Given the description of an element on the screen output the (x, y) to click on. 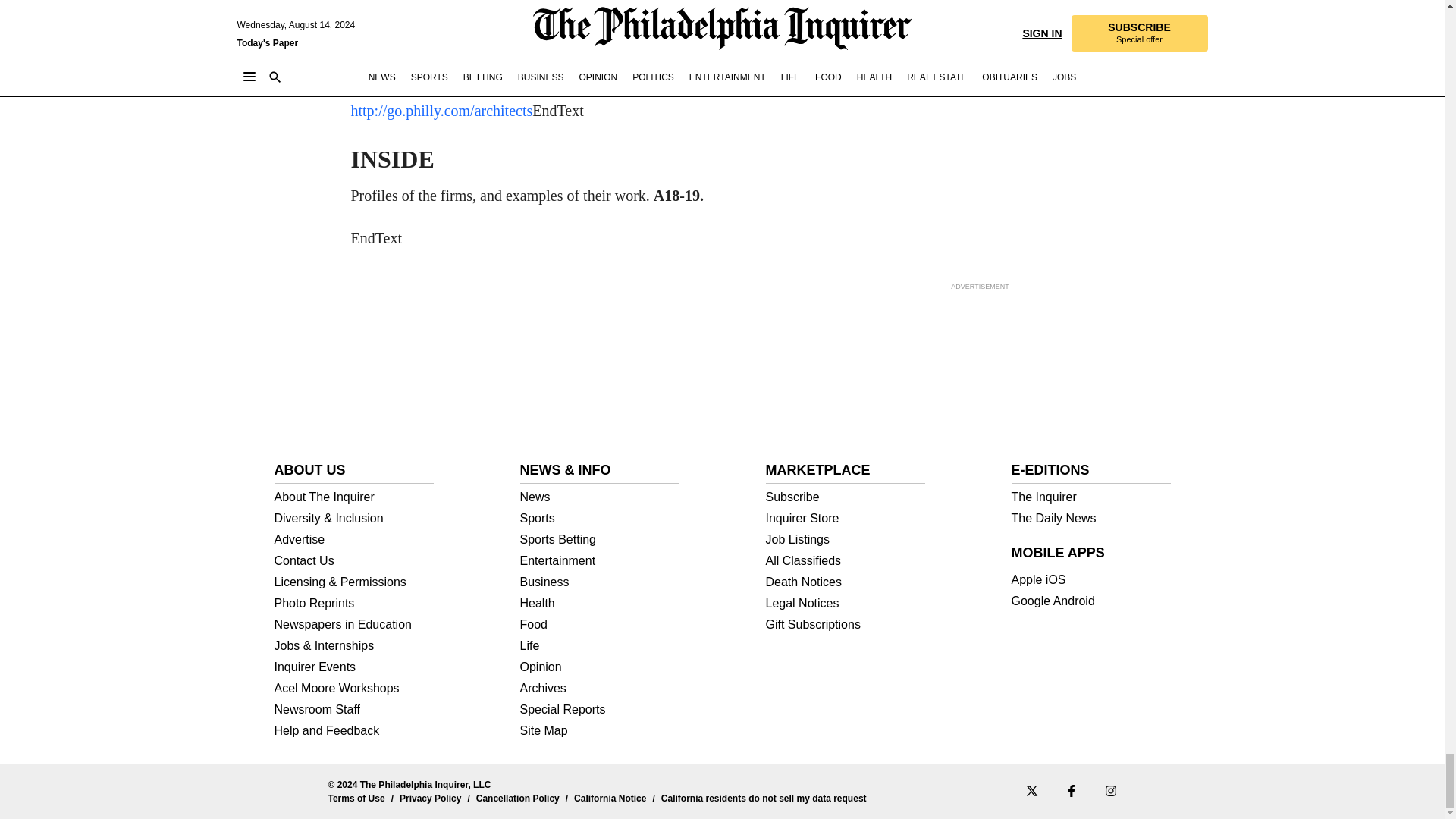
Contact Us (354, 561)
About The Inquirer (354, 497)
Advertise (354, 539)
Facebook (1070, 790)
X (1030, 790)
Instagram (1109, 790)
